Given the description of an element on the screen output the (x, y) to click on. 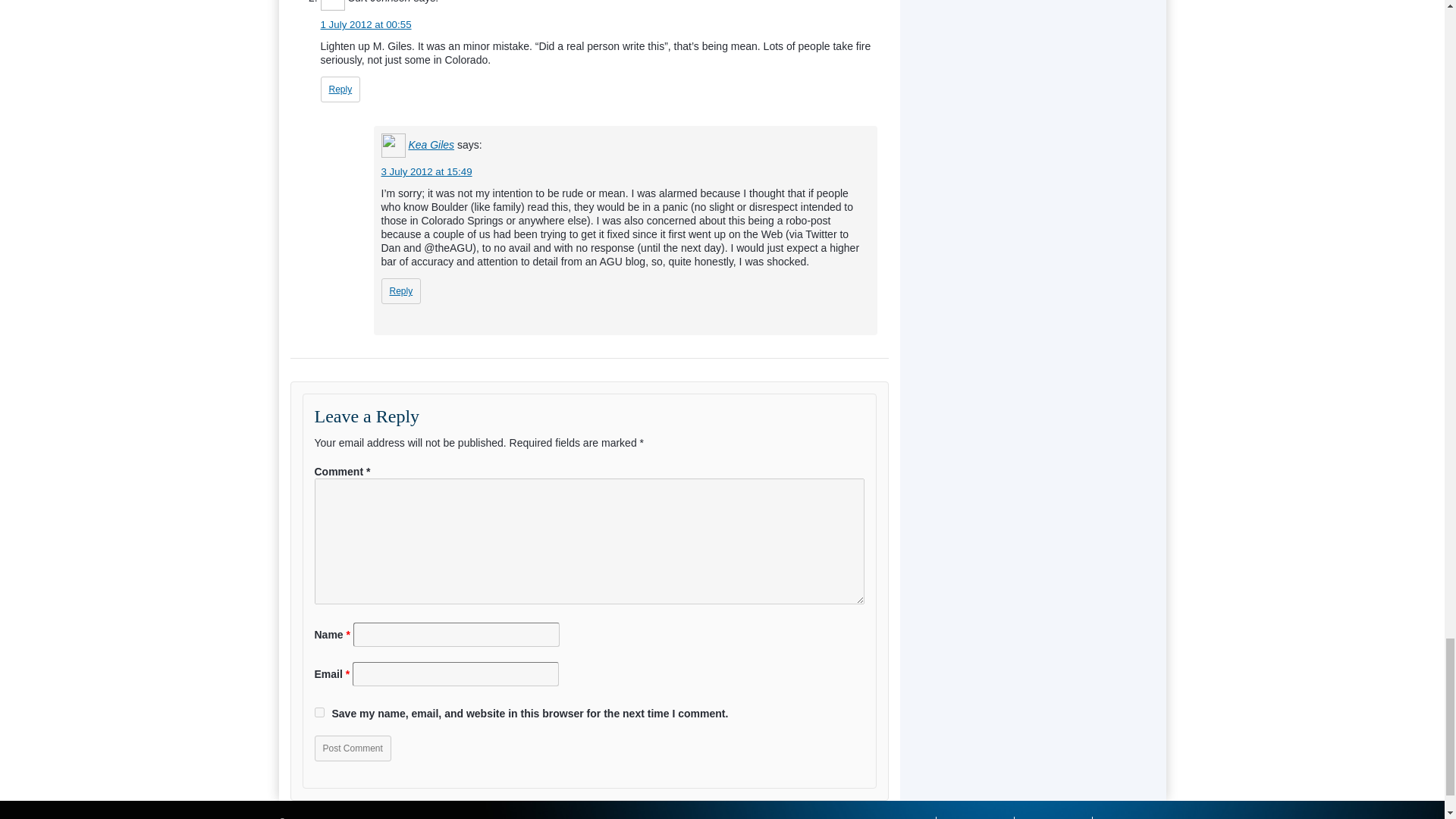
1 July 2012 at 00:55 (365, 24)
3 July 2012 at 15:49 (425, 171)
yes (318, 712)
Reply (339, 89)
Reply (400, 290)
Post Comment (352, 748)
Kea Giles (430, 144)
